Given the description of an element on the screen output the (x, y) to click on. 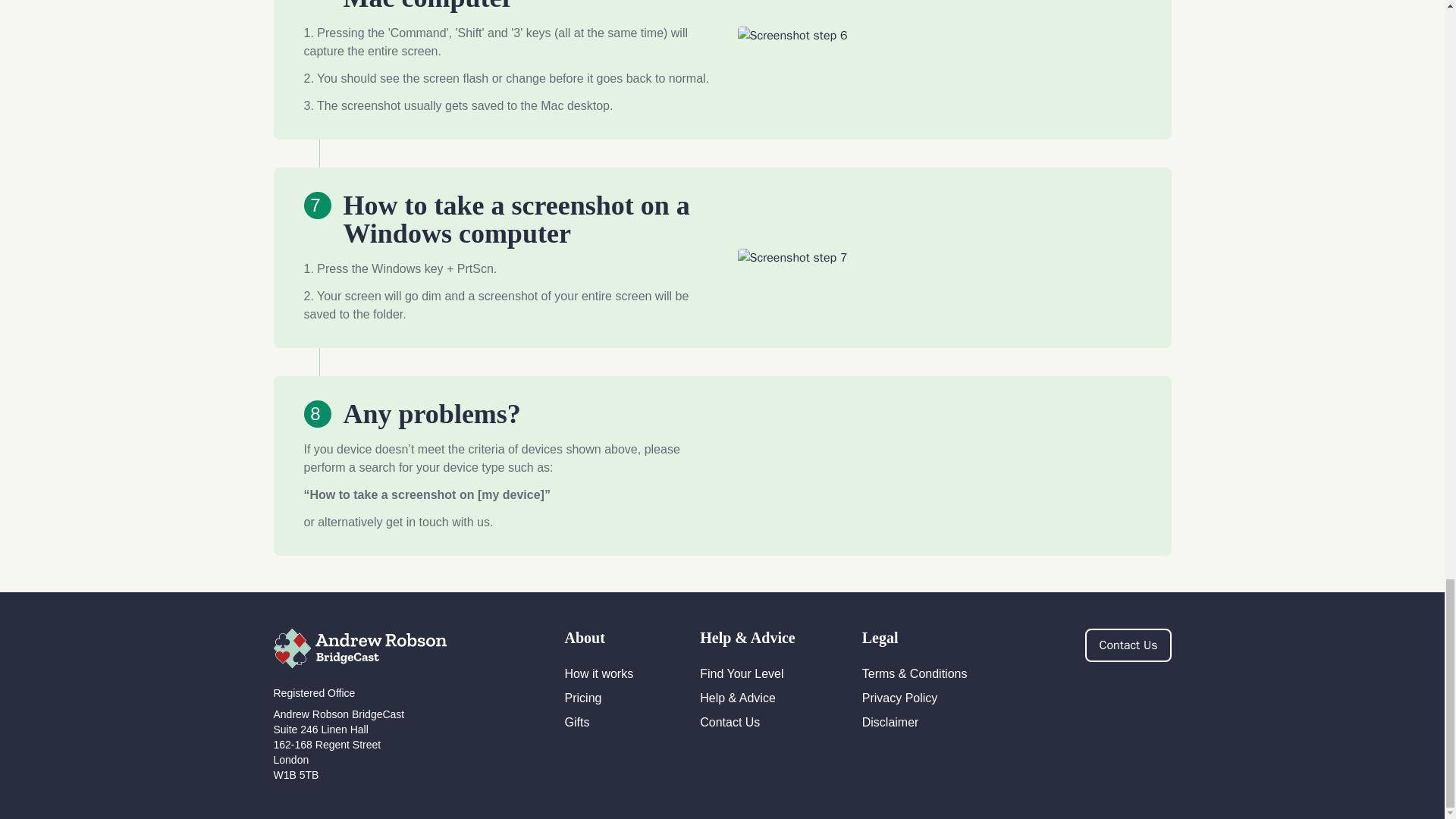
Contact Us (730, 721)
Contact Us (1127, 644)
Find Your Level (741, 673)
Privacy Policy (899, 697)
Pricing (583, 697)
Gifts (576, 721)
Disclaimer (889, 721)
How it works (598, 673)
